Given the description of an element on the screen output the (x, y) to click on. 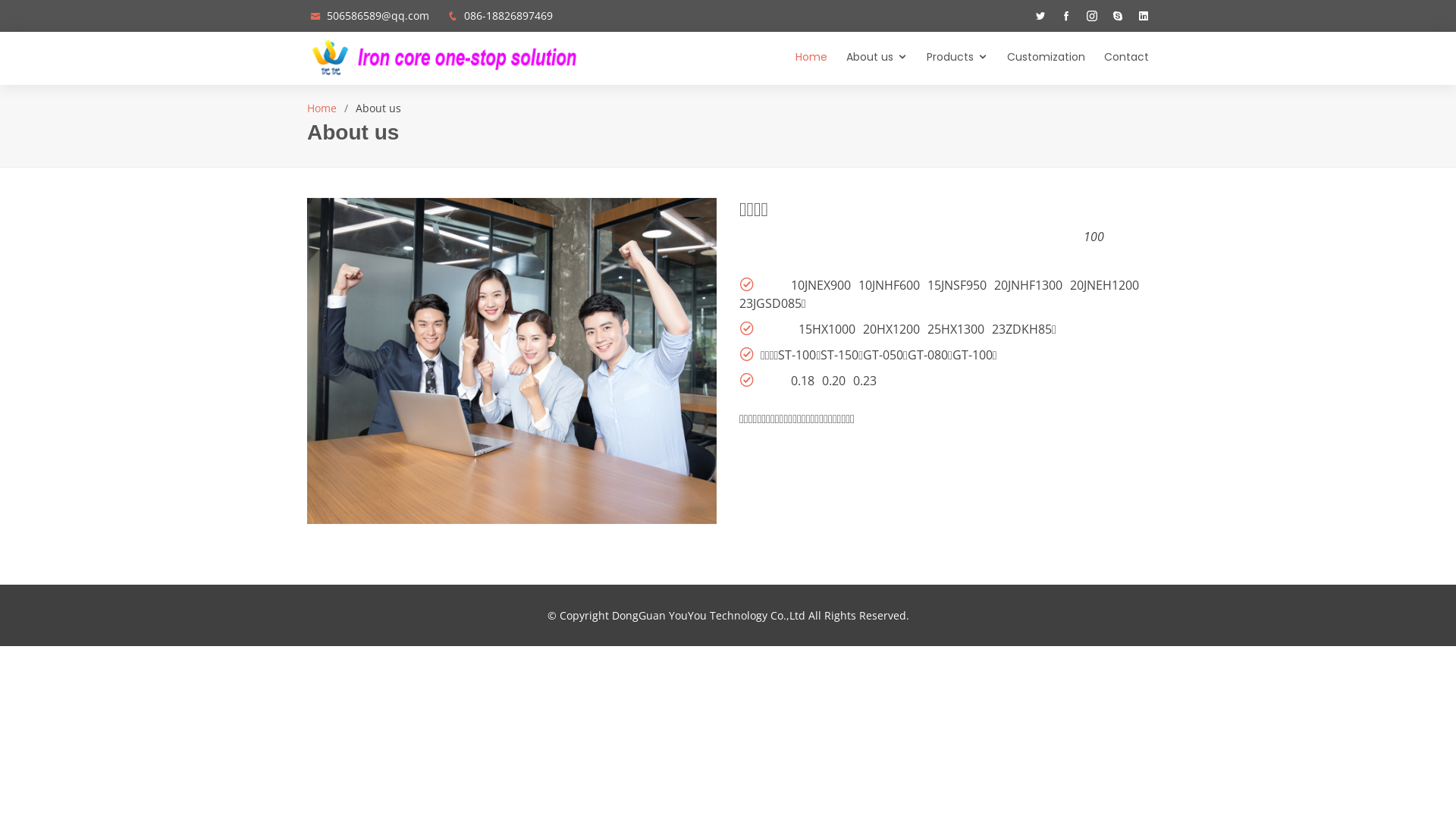
Home Element type: text (321, 107)
About us Element type: text (867, 57)
Products Element type: text (947, 57)
Home Element type: text (801, 57)
Customization Element type: text (1036, 57)
Contact Element type: text (1116, 57)
